Given the description of an element on the screen output the (x, y) to click on. 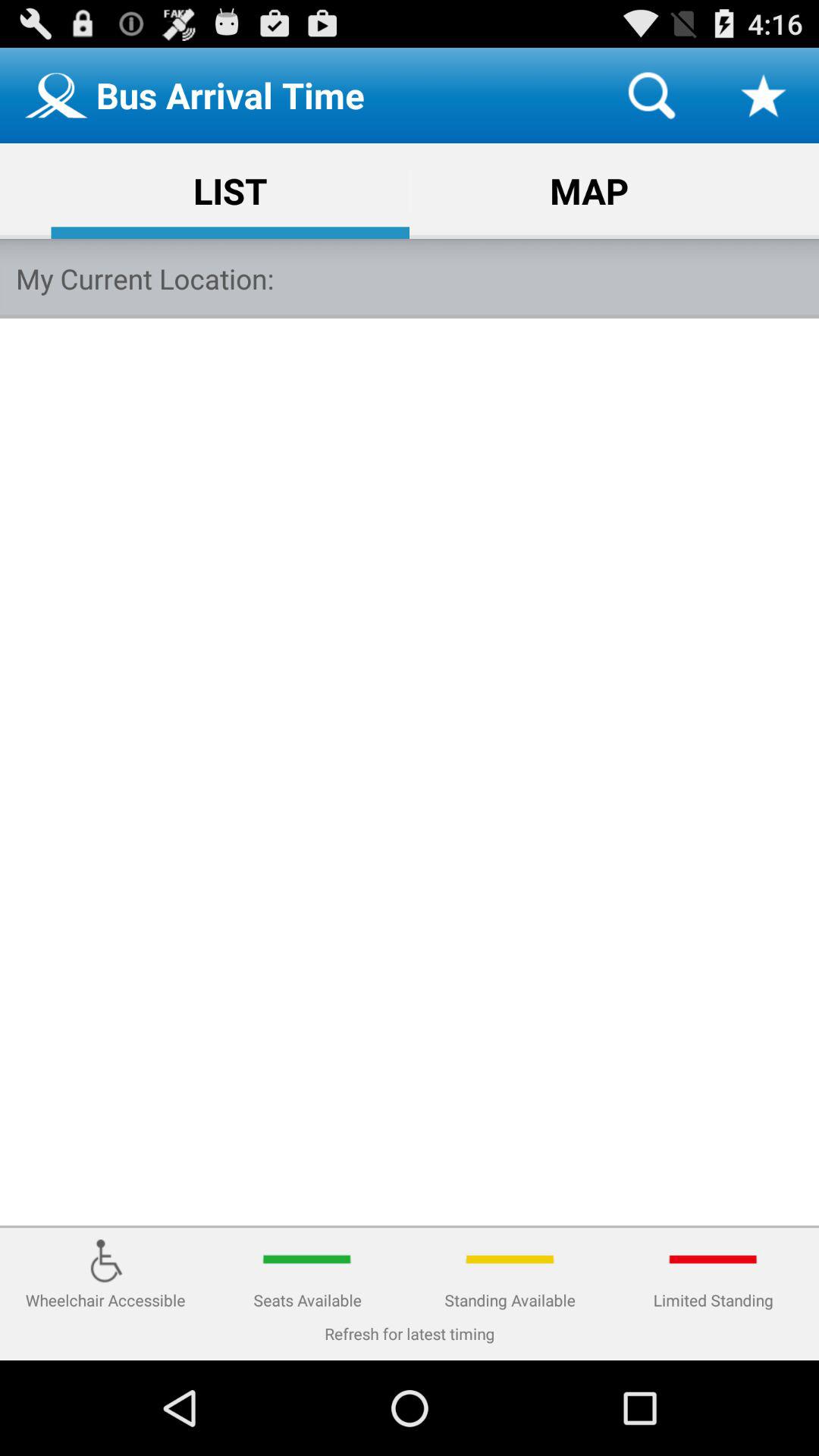
choose the image above wheelchair accessible (105, 1259)
click on green line above the text seats available (307, 1259)
click the red color icon above the limited standing (713, 1259)
click on the search icon beside star (651, 95)
